Given the description of an element on the screen output the (x, y) to click on. 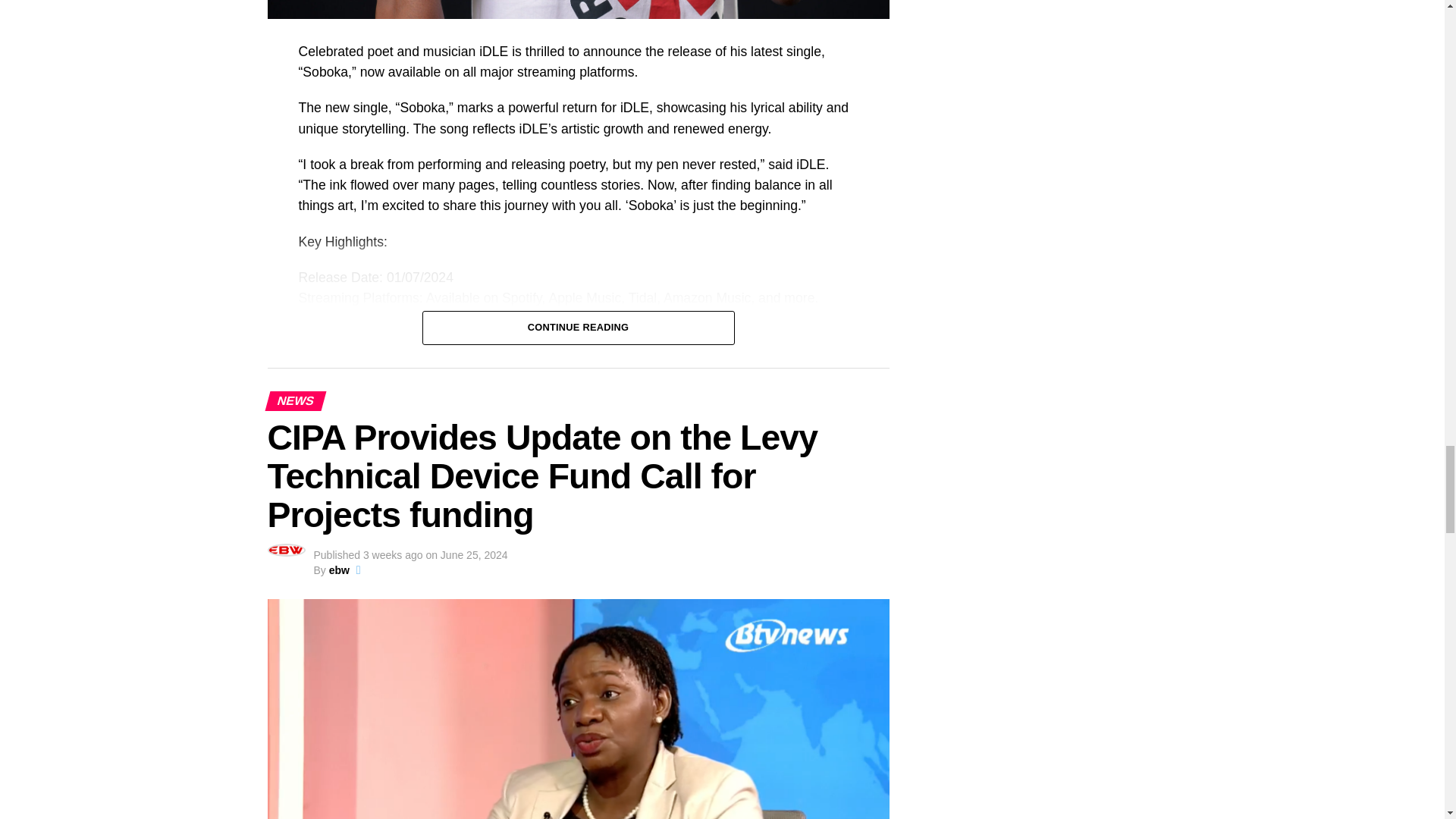
Posts by ebw (339, 570)
